Given the description of an element on the screen output the (x, y) to click on. 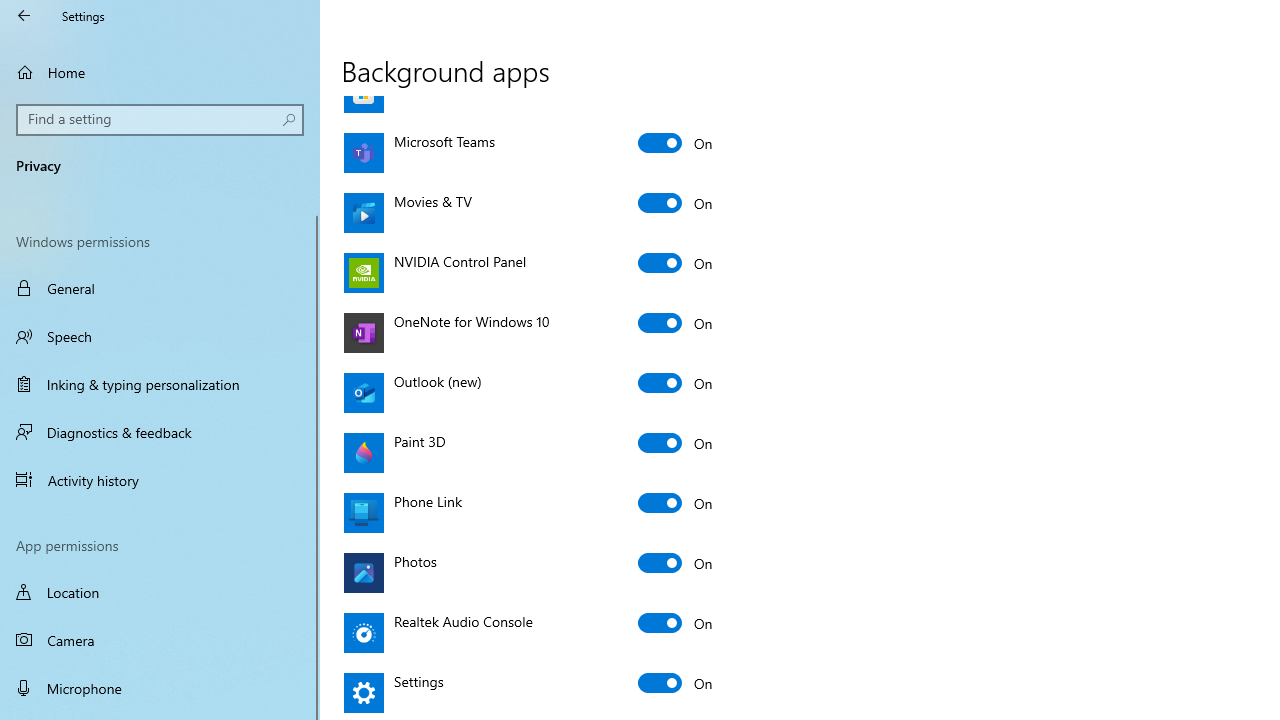
Microsoft Store (675, 82)
Phone Link (675, 502)
Outlook (new) (675, 382)
Inking & typing personalization (160, 384)
NVIDIA Control Panel (675, 262)
Microsoft Teams (675, 142)
Paint 3D (675, 442)
Microphone (160, 687)
Location (160, 592)
Camera (160, 639)
Settings (675, 682)
Speech (160, 335)
General (160, 287)
Home (160, 71)
OneNote for Windows 10 (675, 322)
